Given the description of an element on the screen output the (x, y) to click on. 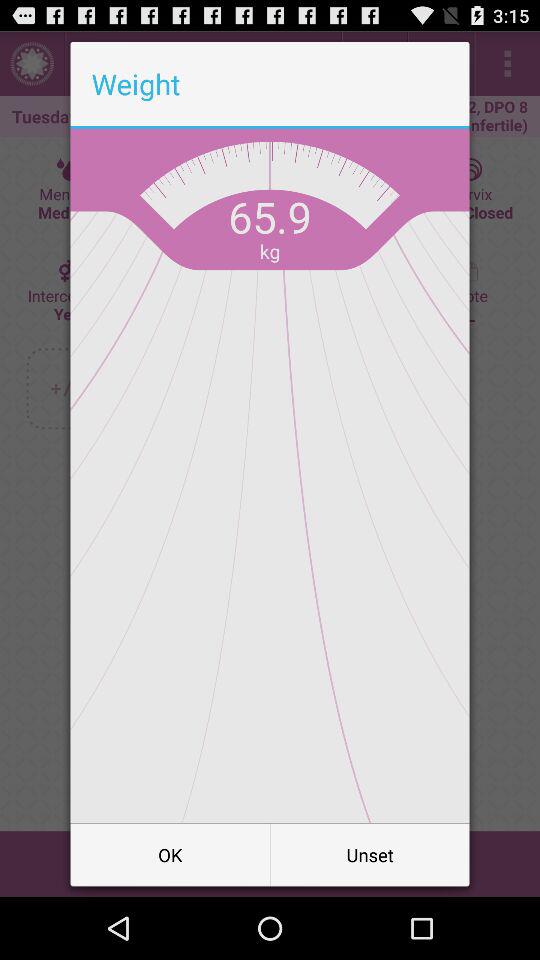
turn off item to the right of the ok (369, 854)
